Given the description of an element on the screen output the (x, y) to click on. 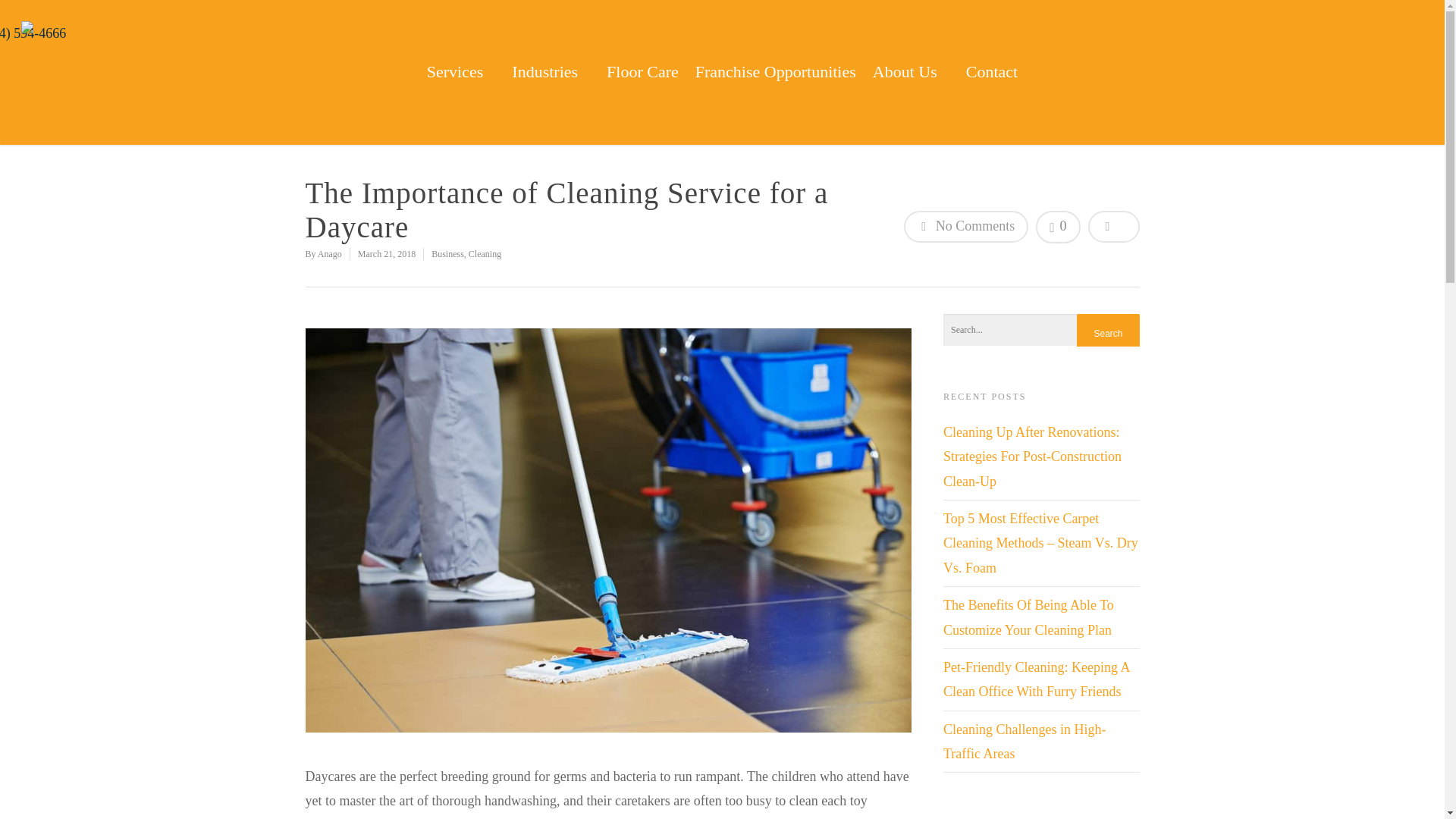
Franchise Opportunities (775, 82)
Business (447, 253)
Search (1107, 332)
Cleaning (484, 253)
No Comments (965, 226)
Search for: (1041, 329)
Services (461, 52)
Anago (329, 253)
0 (1057, 226)
Love this (1057, 226)
Search (1107, 332)
Posts by Anago (329, 253)
